Given the description of an element on the screen output the (x, y) to click on. 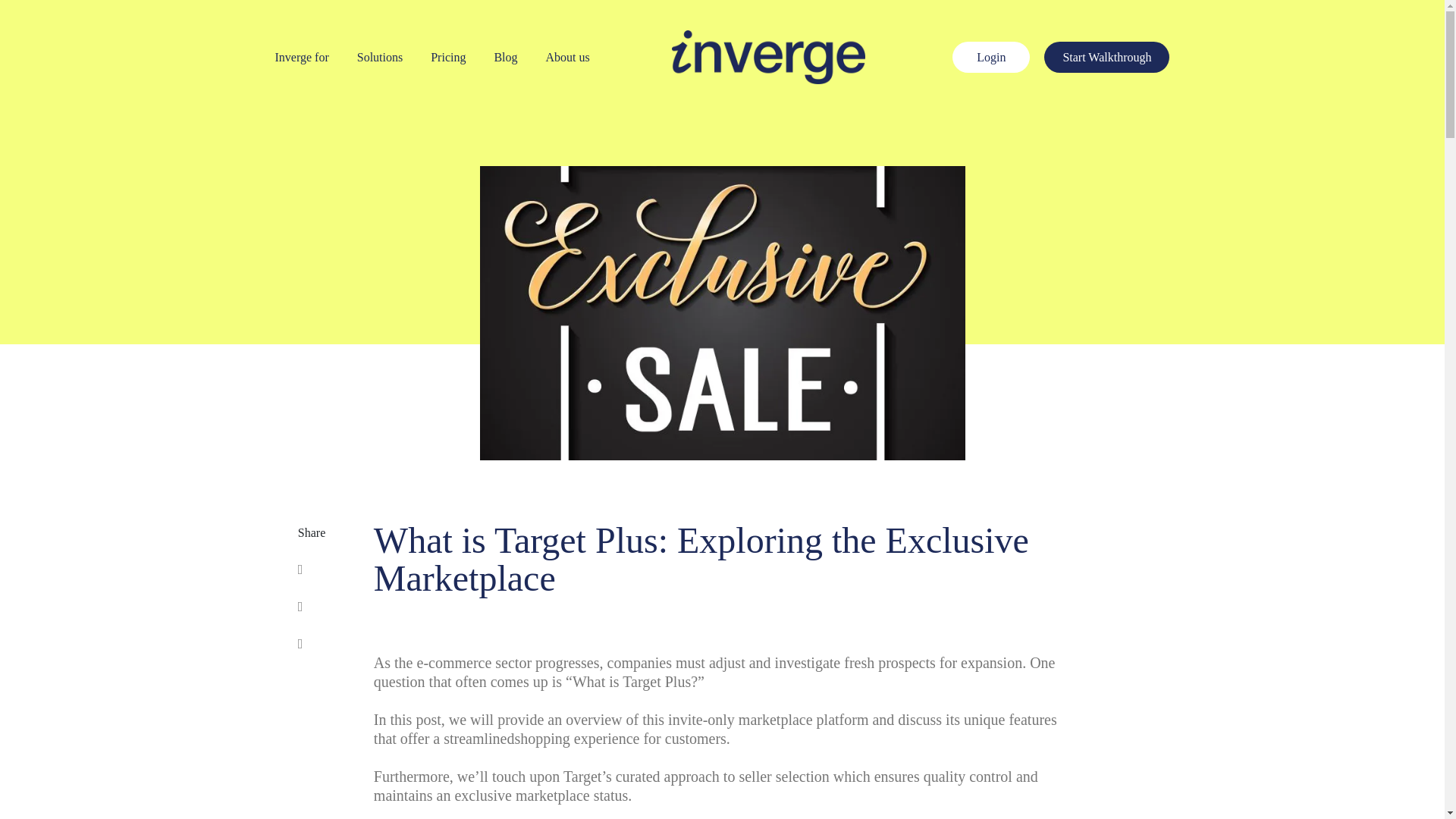
Start Walkthrough (1106, 56)
Login (990, 56)
E-commerce (454, 662)
About us (567, 56)
Blog (504, 56)
 Shopping Experience (576, 738)
Inverge for (302, 56)
Solutions (379, 56)
Pricing (447, 56)
shopping experience (576, 738)
e-commerce (454, 662)
